Given the description of an element on the screen output the (x, y) to click on. 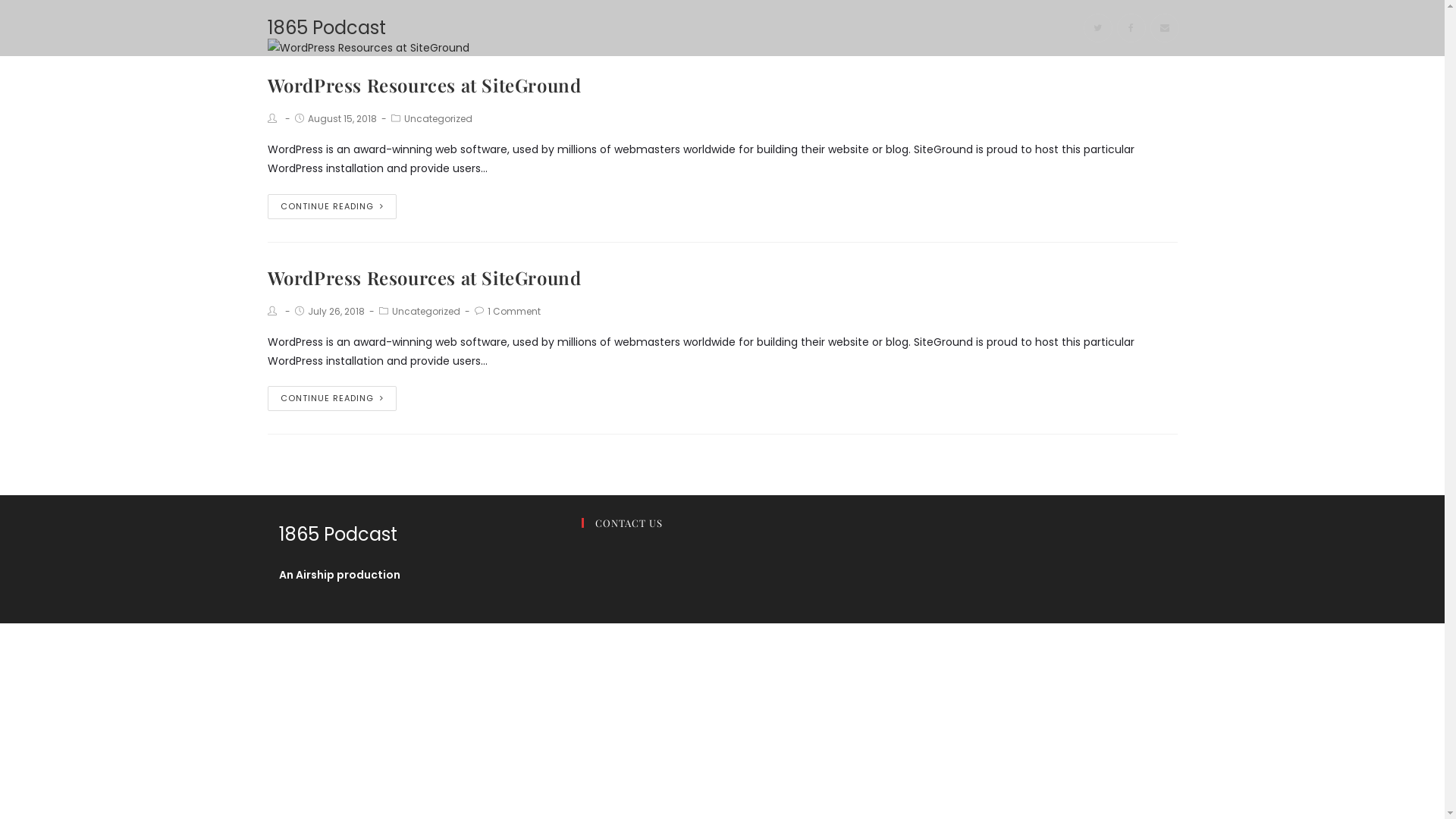
WordPress Resources at SiteGround Element type: text (423, 84)
1 Comment Element type: text (512, 310)
Airship Element type: text (314, 574)
Uncategorized Element type: text (425, 310)
1865 Podcast Element type: text (325, 27)
CONTINUE READING Element type: text (330, 206)
CONTINUE READING Element type: text (330, 398)
WordPress Resources at SiteGround Element type: text (423, 277)
1865 Podcast Element type: text (338, 533)
Uncategorized Element type: text (437, 118)
